Given the description of an element on the screen output the (x, y) to click on. 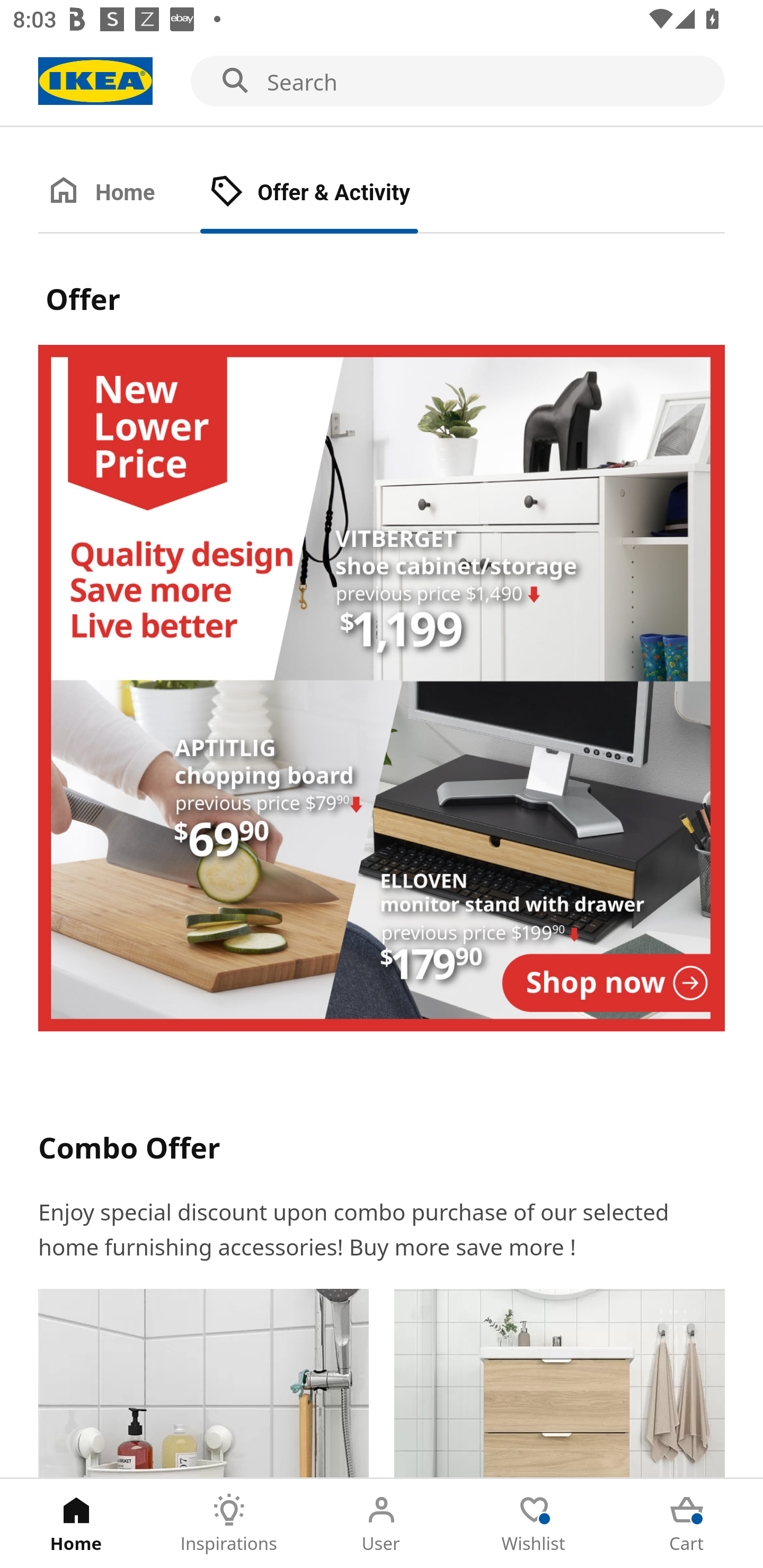
Search (381, 81)
Home
Tab 1 of 2 (118, 192)
Offer & Activity
Tab 2 of 2 (327, 192)
Home
Tab 1 of 5 (76, 1522)
Inspirations
Tab 2 of 5 (228, 1522)
User
Tab 3 of 5 (381, 1522)
Wishlist
Tab 4 of 5 (533, 1522)
Cart
Tab 5 of 5 (686, 1522)
